Given the description of an element on the screen output the (x, y) to click on. 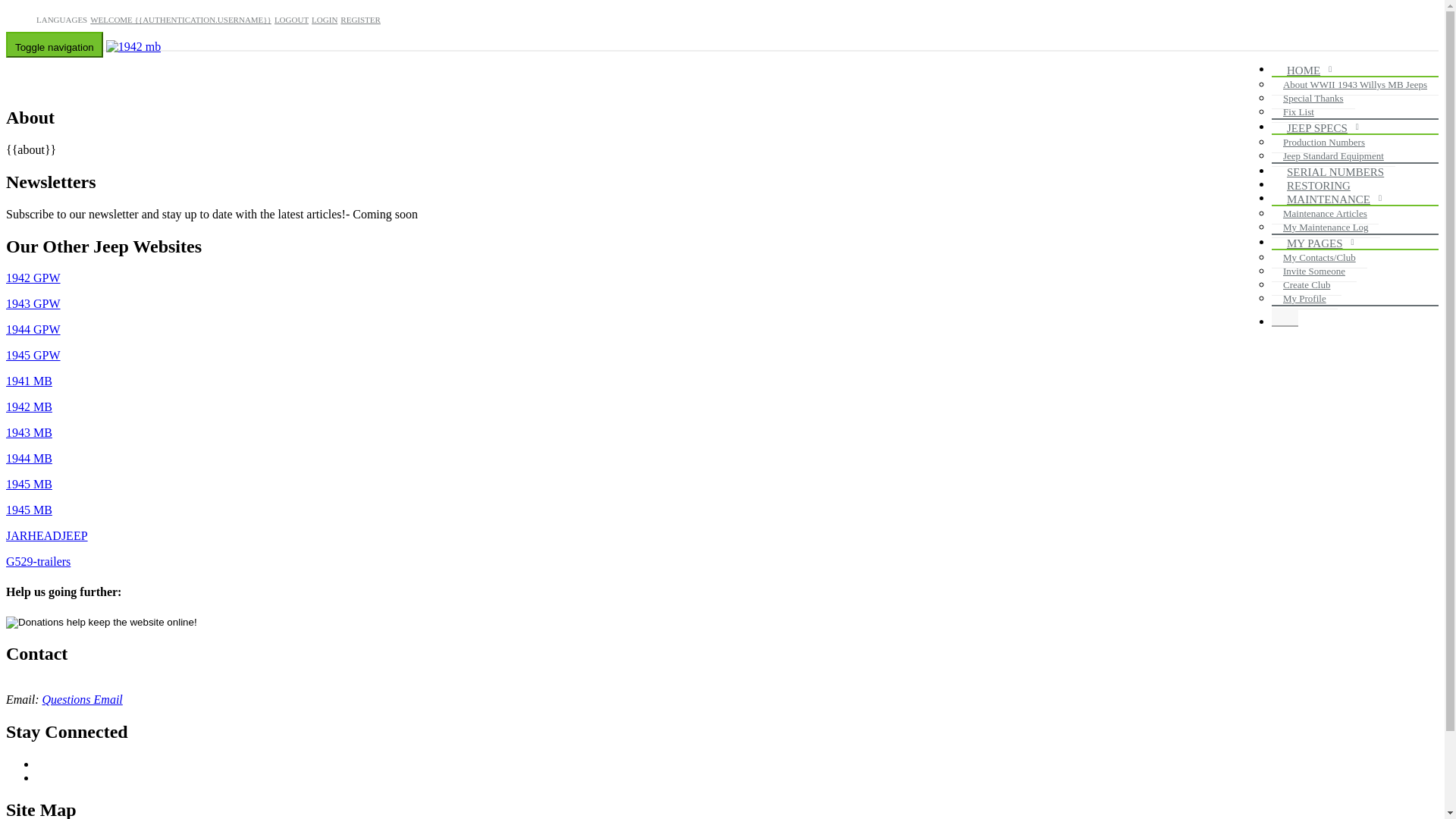
1942 GPW Element type: text (33, 277)
1943 MB Element type: text (29, 432)
Invite Someone Element type: text (1313, 271)
1945 GPW Element type: text (33, 354)
About WWII 1943 Willys MB Jeeps Element type: text (1354, 84)
Maintenance Articles Element type: text (1324, 213)
JARHEADJEEP Element type: text (46, 535)
1942 MB Element type: text (29, 406)
1944 GPW Element type: text (33, 329)
LOGIN Element type: text (324, 19)
MAINTENANCE Element type: text (1332, 199)
Toggle navigation Element type: text (54, 44)
1945 MB Element type: text (29, 509)
LANGUAGES Element type: text (61, 19)
1941 MB Element type: text (29, 380)
JEEP SPECS Element type: text (1320, 128)
HOME Element type: text (1307, 70)
SERIAL NUMBERS Element type: text (1338, 172)
1943 GPW Element type: text (33, 303)
Special Thanks Element type: text (1313, 98)
My Profile Element type: text (1304, 298)
Jeep Standard Equipment Element type: text (1333, 155)
RESTORING Element type: text (1322, 186)
G529-trailers Element type: text (38, 561)
Production Numbers Element type: text (1323, 142)
Questions Email Element type: text (82, 699)
1945 MB Element type: text (29, 483)
My Maintenance Log Element type: text (1325, 227)
My Contacts/Club Element type: text (1319, 257)
REGISTER Element type: text (360, 19)
MY PAGES Element type: text (1318, 243)
1944 MB Element type: text (29, 457)
LOGOUT Element type: text (291, 19)
Fix List Element type: text (1298, 111)
Create Club Element type: text (1306, 284)
